Given the description of an element on the screen output the (x, y) to click on. 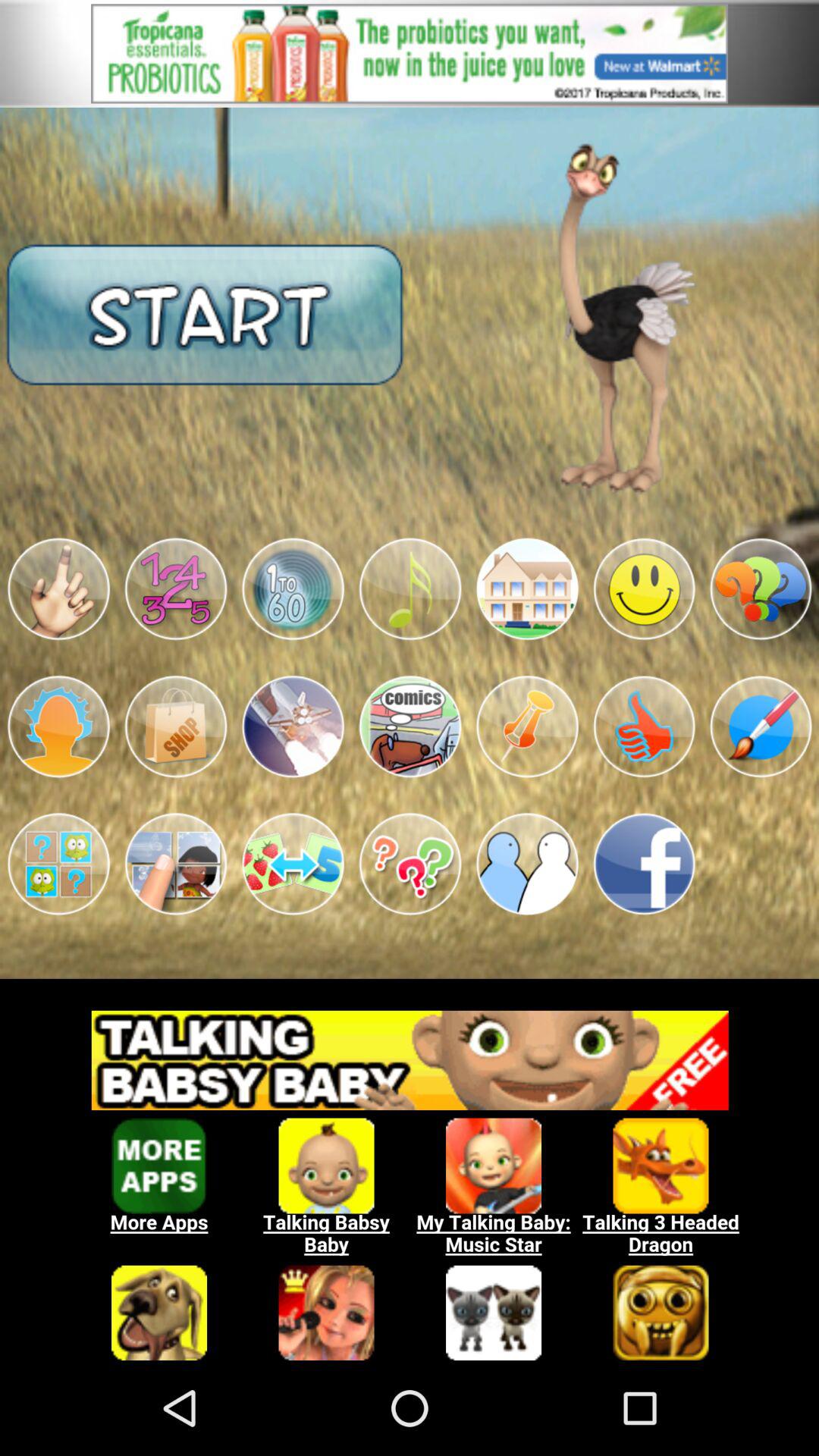
contacts option (526, 863)
